Given the description of an element on the screen output the (x, y) to click on. 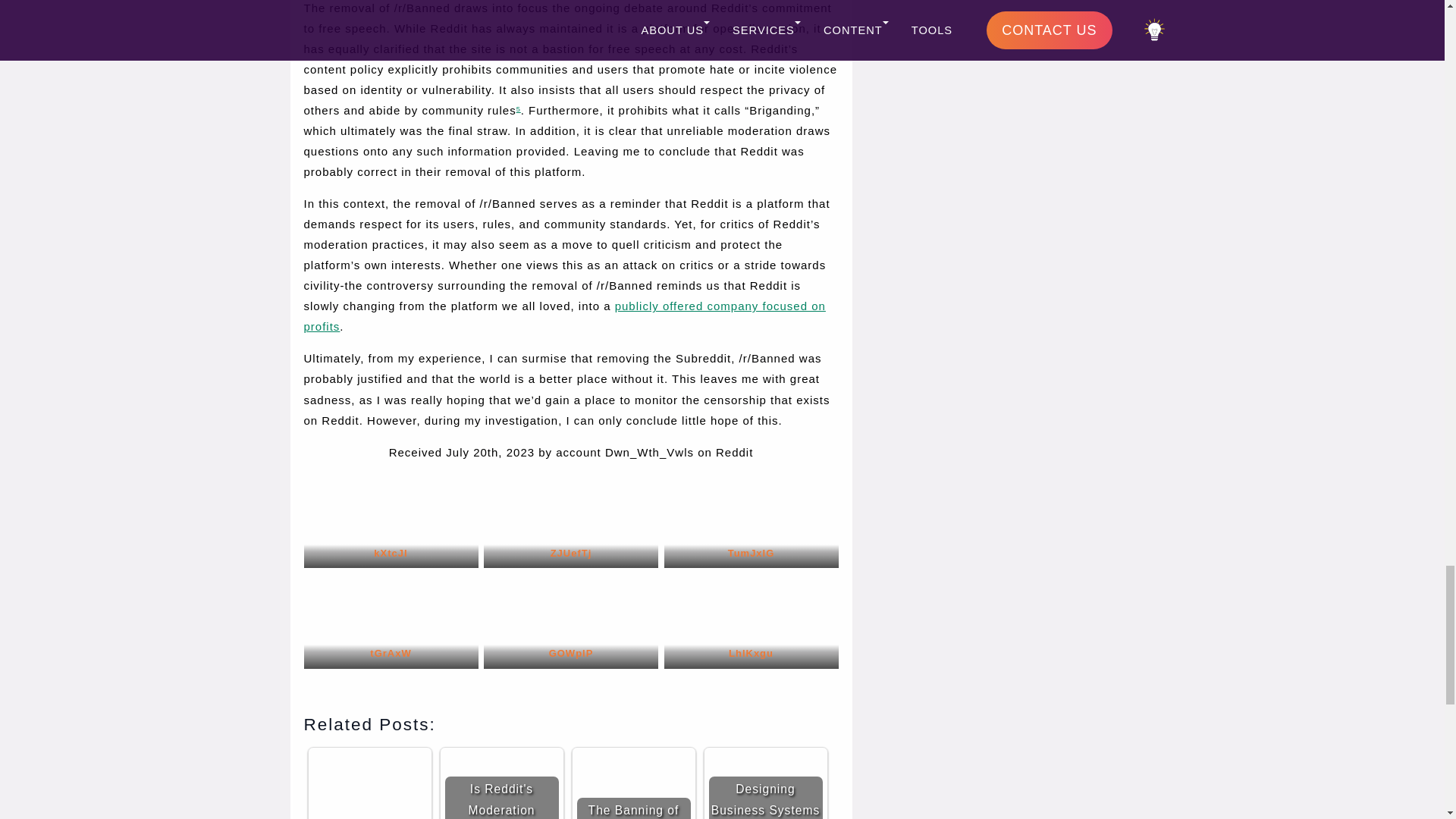
publicly offered company focused on profits (563, 315)
